Given the description of an element on the screen output the (x, y) to click on. 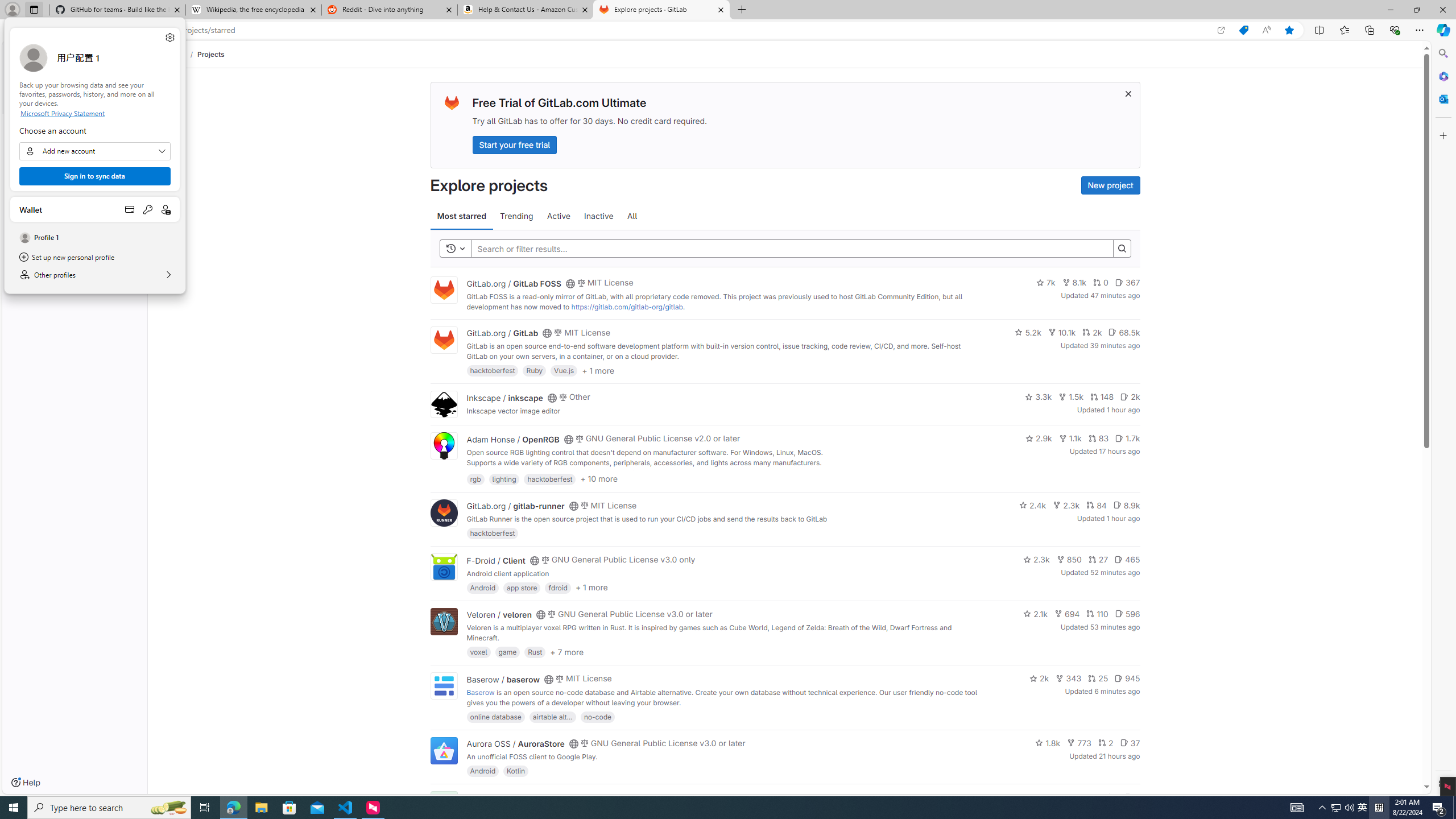
no-code (597, 715)
Adam Honse / OpenRGB (512, 438)
+ 7 more (566, 651)
6 (1132, 797)
game (507, 651)
Visual Studio Code - 1 running window (345, 807)
0 (1100, 282)
